Given the description of an element on the screen output the (x, y) to click on. 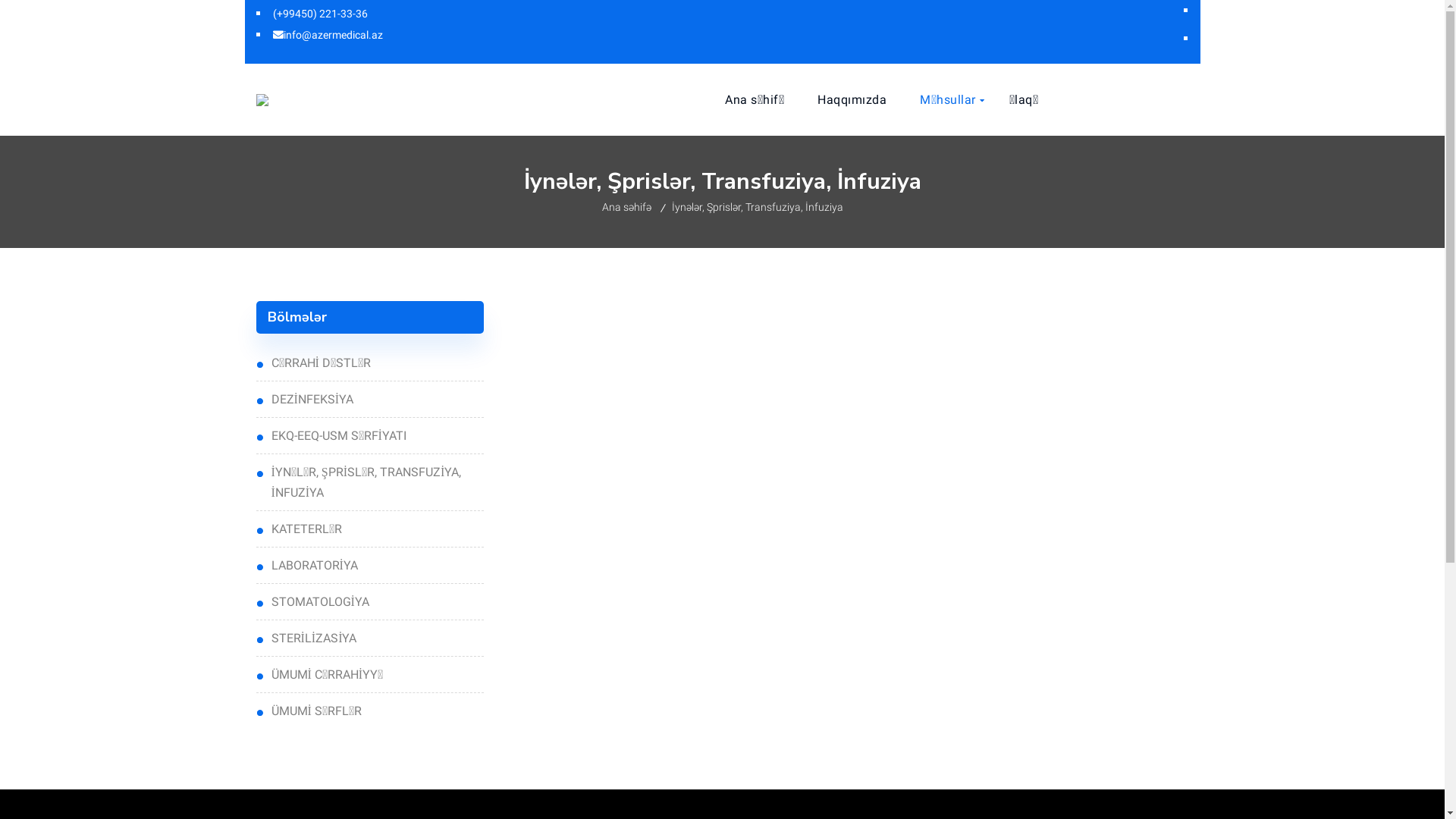
STERILIZASIYA Element type: text (369, 637)
DEZINFEKSIYA Element type: text (369, 399)
STOMATOLOGIYA Element type: text (369, 601)
(+99450) 221-33-36 Element type: text (320, 13)
info@azermedical.az Element type: text (327, 34)
LABORATORIYA Element type: text (369, 565)
